Given the description of an element on the screen output the (x, y) to click on. 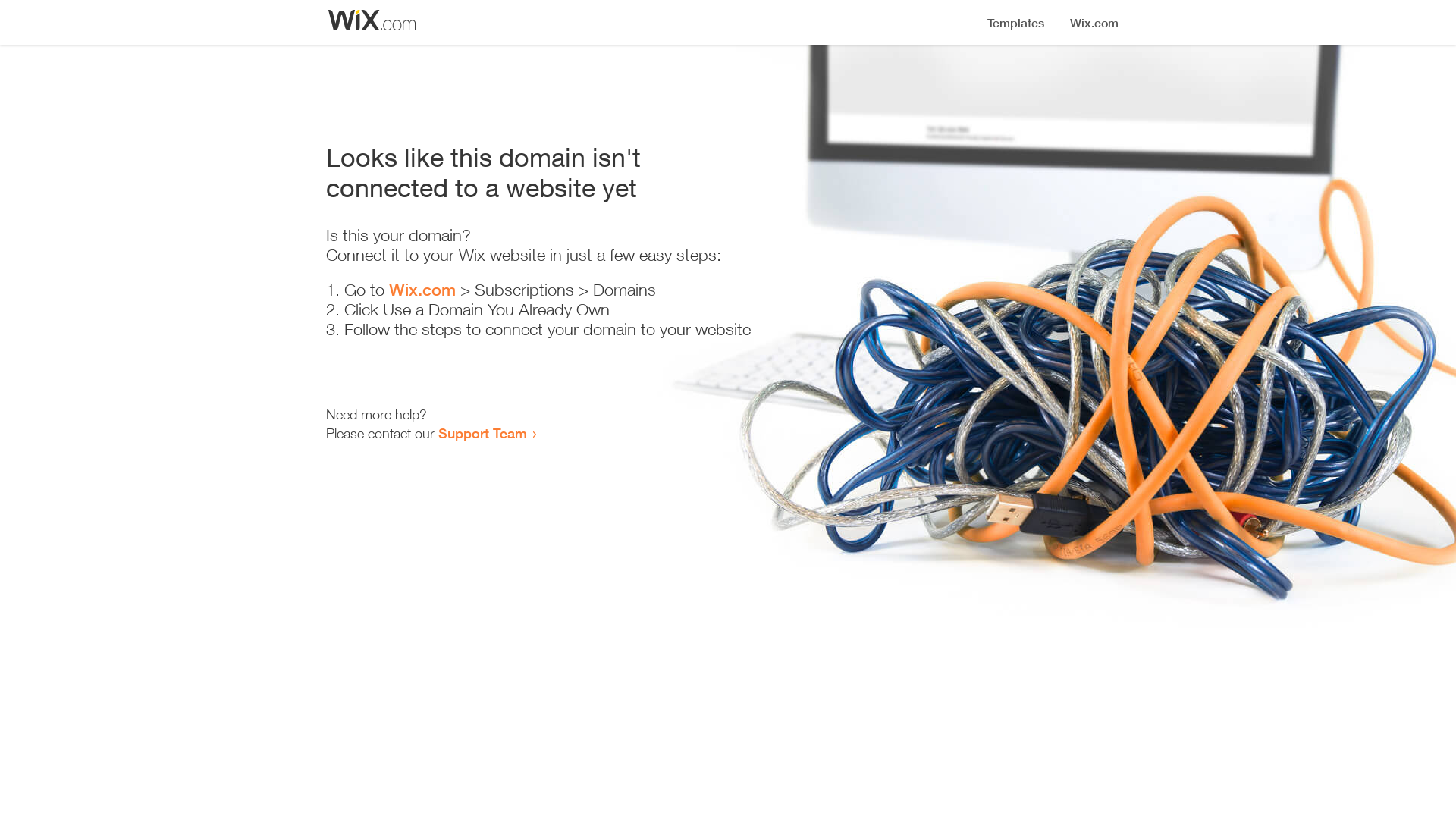
Support Team Element type: text (482, 432)
Wix.com Element type: text (422, 289)
